Given the description of an element on the screen output the (x, y) to click on. 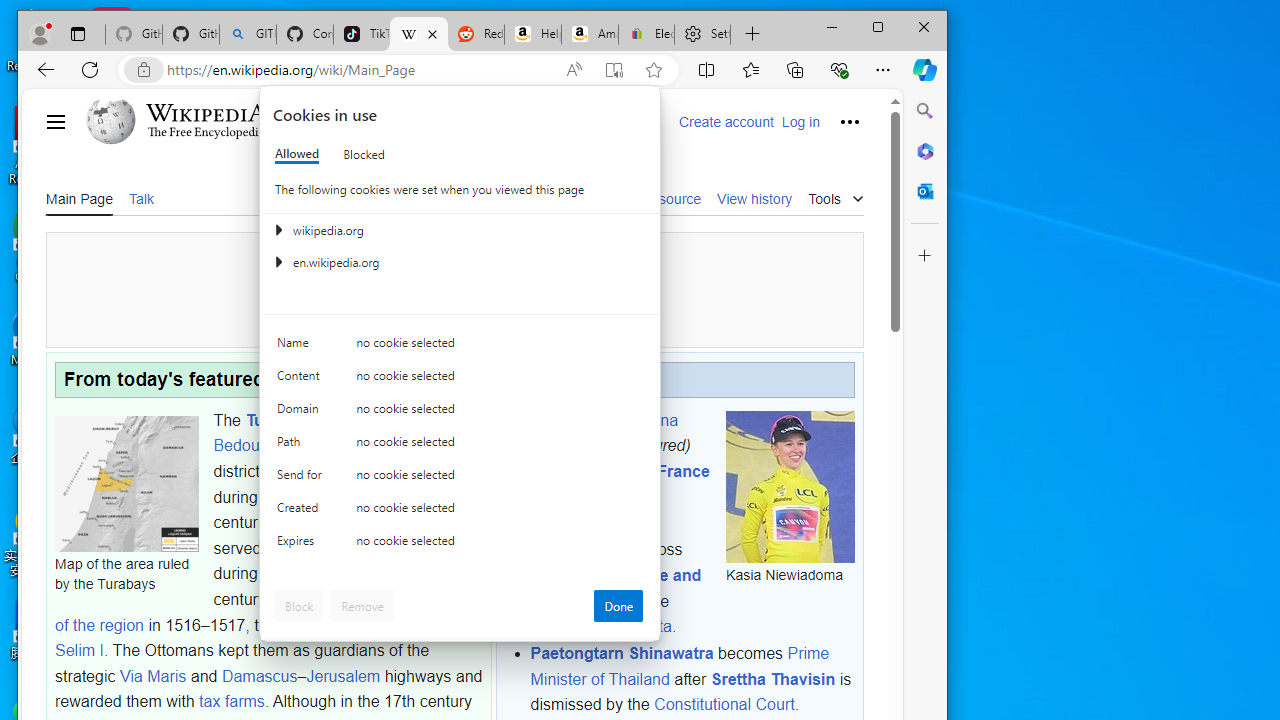
Path (302, 446)
Content (302, 380)
Expires (302, 544)
Domain (302, 413)
Remove (362, 605)
Blocked (363, 153)
Class: c0153 c0157 c0154 (460, 347)
no cookie selected (500, 544)
Send for (302, 479)
Block (299, 605)
Class: c0153 c0157 (460, 545)
Allowed (296, 153)
Created (302, 511)
Done (617, 605)
Name (302, 346)
